Given the description of an element on the screen output the (x, y) to click on. 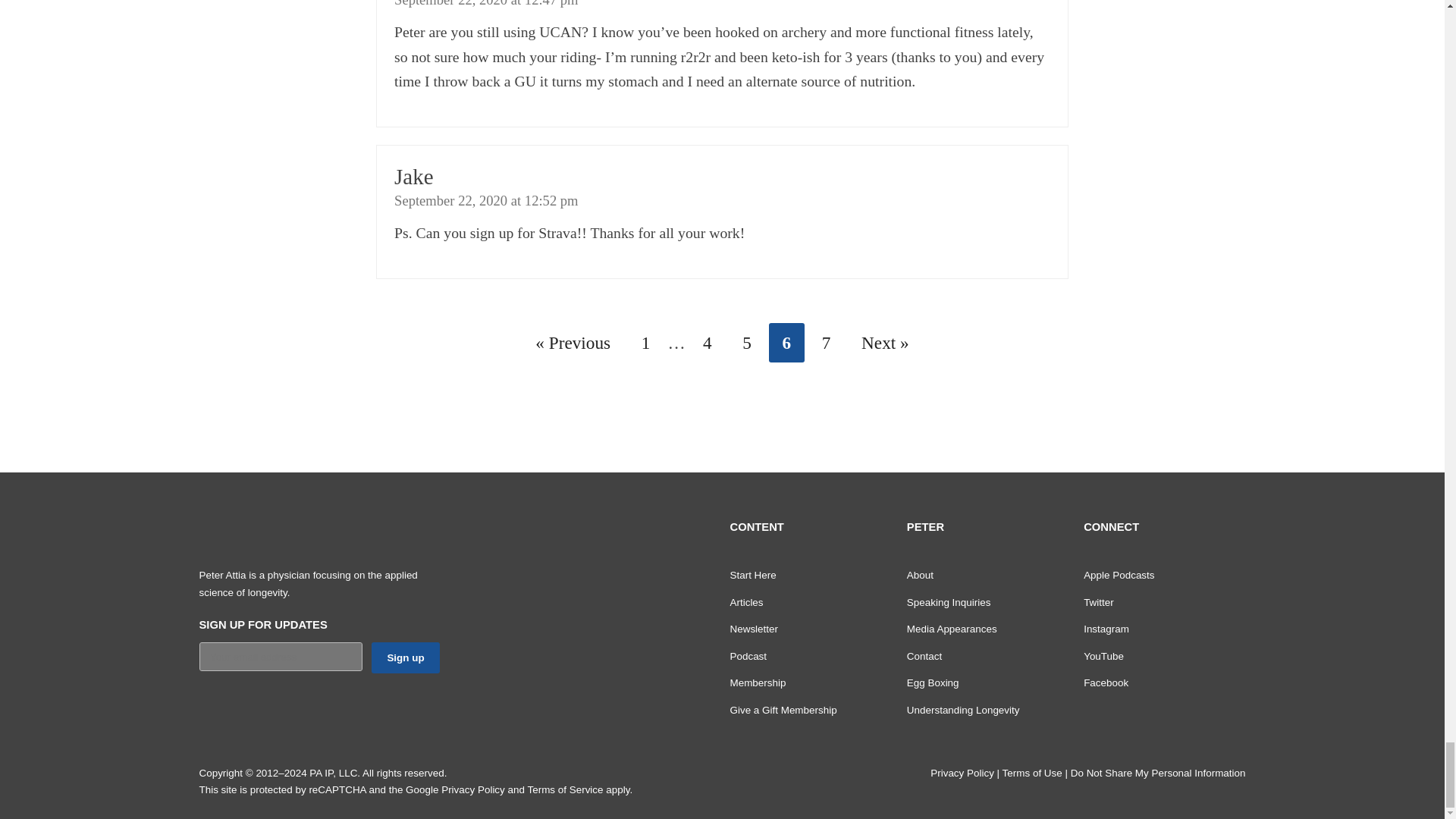
Peter Attia (289, 534)
Sign up (405, 657)
